Given the description of an element on the screen output the (x, y) to click on. 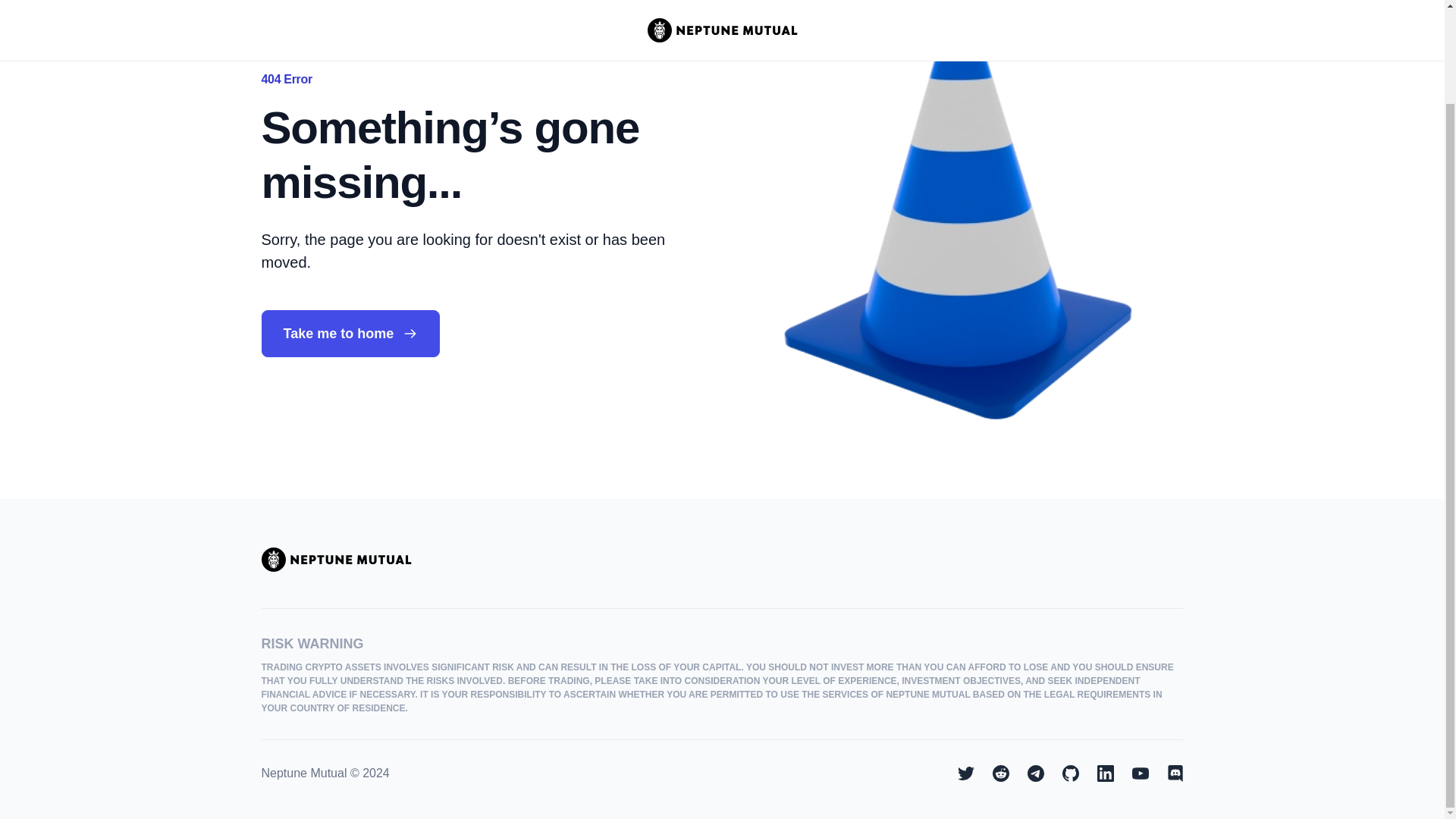
telegram (1034, 773)
reddit (1000, 773)
Take me to home (349, 333)
linkedin (1104, 773)
youtube (1139, 773)
github (1069, 773)
twitter (965, 773)
Neptune Mutual (335, 559)
discord (1174, 773)
